Given the description of an element on the screen output the (x, y) to click on. 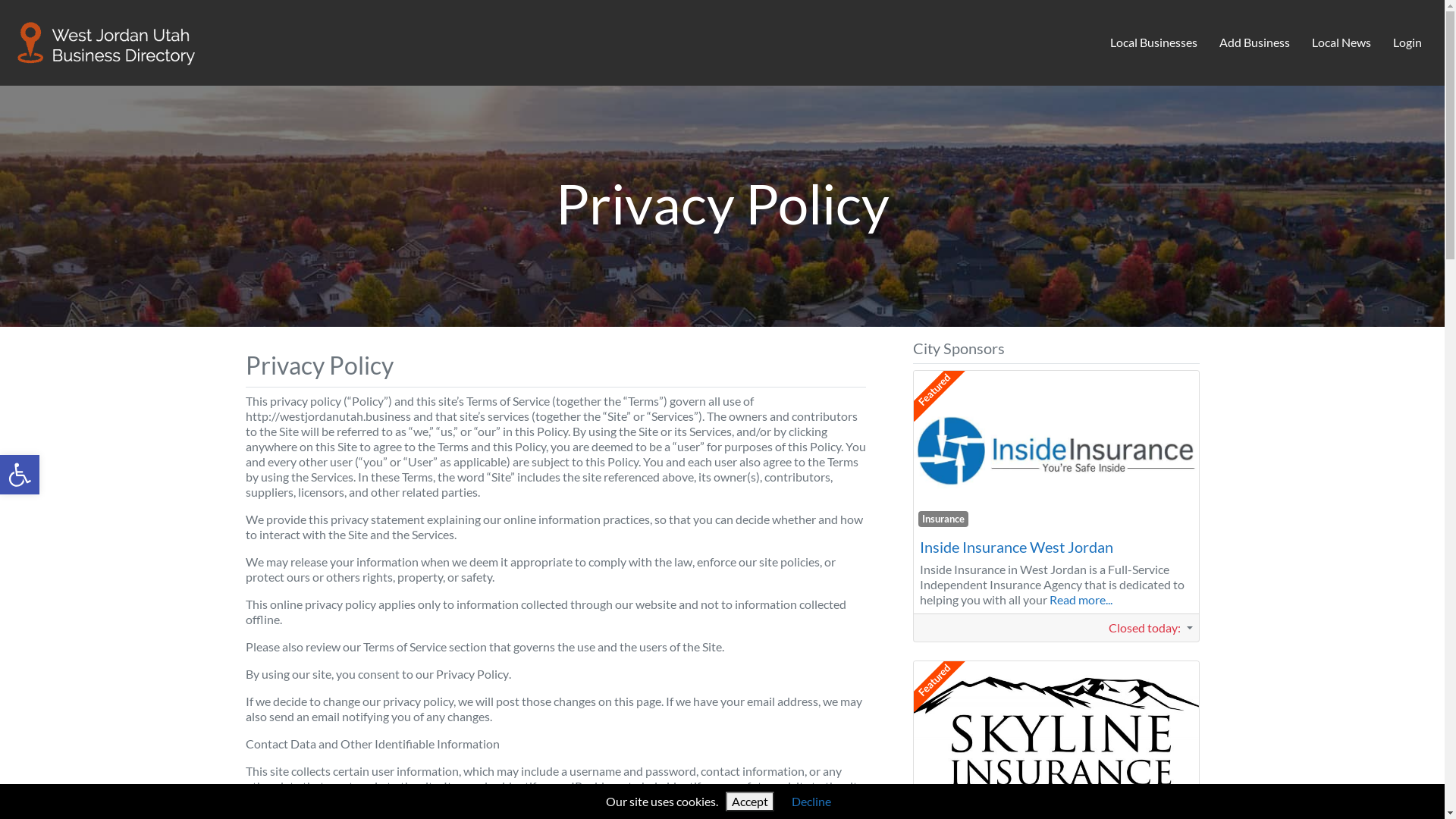
Login Element type: text (1406, 42)
Featured Element type: text (940, 655)
Local Businesses Element type: text (1153, 42)
Open toolbar
Accessibility Tools Element type: text (19, 474)
Accept Element type: text (749, 801)
Inside Insurance West Jordan Element type: text (1015, 546)
Closed today: Element type: text (1150, 627)
Insurance Element type: text (942, 808)
Local News Element type: text (1340, 42)
Decline Element type: text (811, 800)
Featured Element type: text (940, 365)
Insurance Element type: text (942, 518)
Read more... Element type: text (1080, 599)
West Jordan Business Directory Element type: hover (106, 40)
Add Business Element type: text (1254, 42)
